Given the description of an element on the screen output the (x, y) to click on. 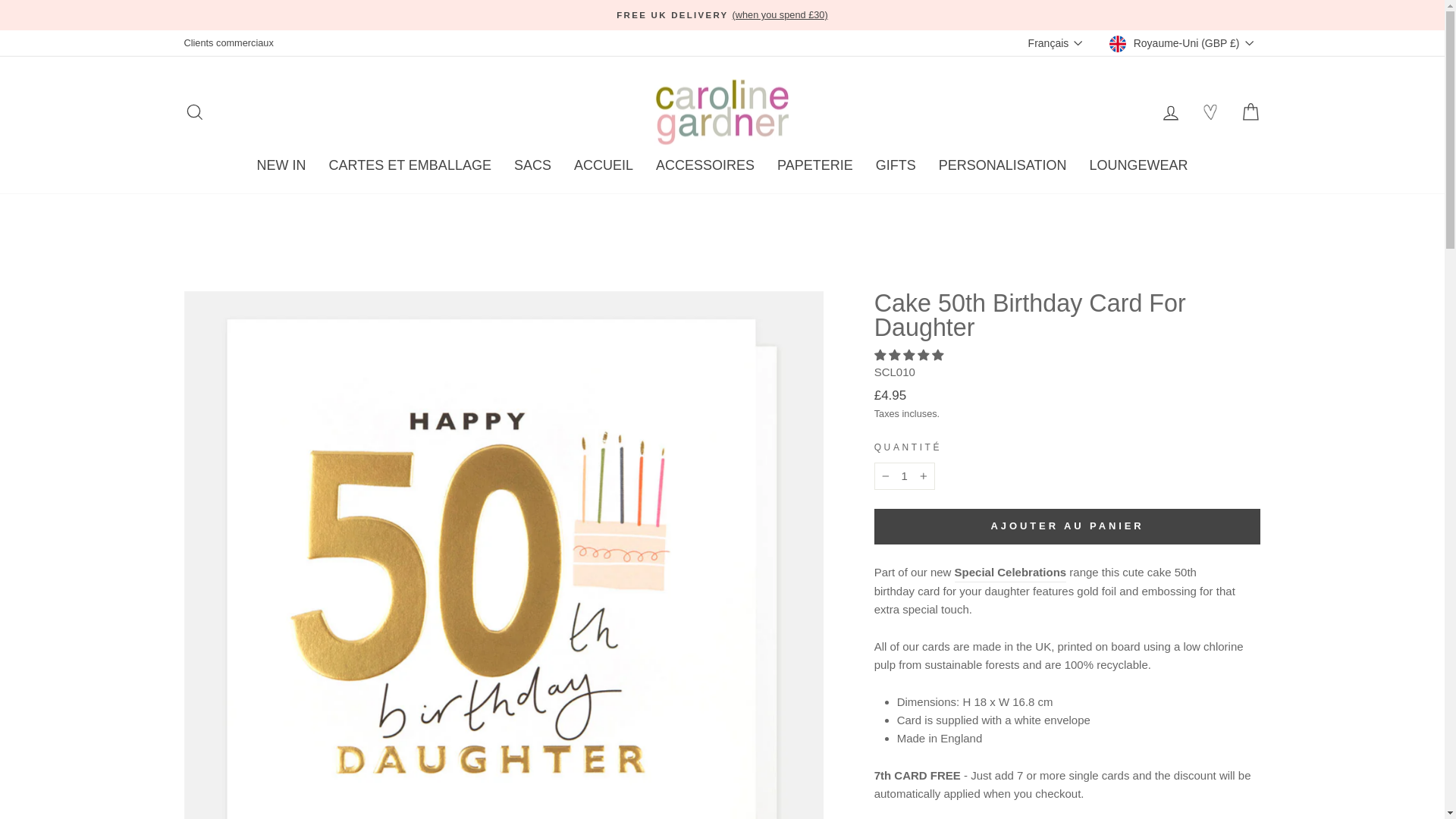
ACCOUNT (1170, 112)
ICON-SEARCH (194, 111)
1 (904, 475)
My Wishlist (1210, 112)
